Given the description of an element on the screen output the (x, y) to click on. 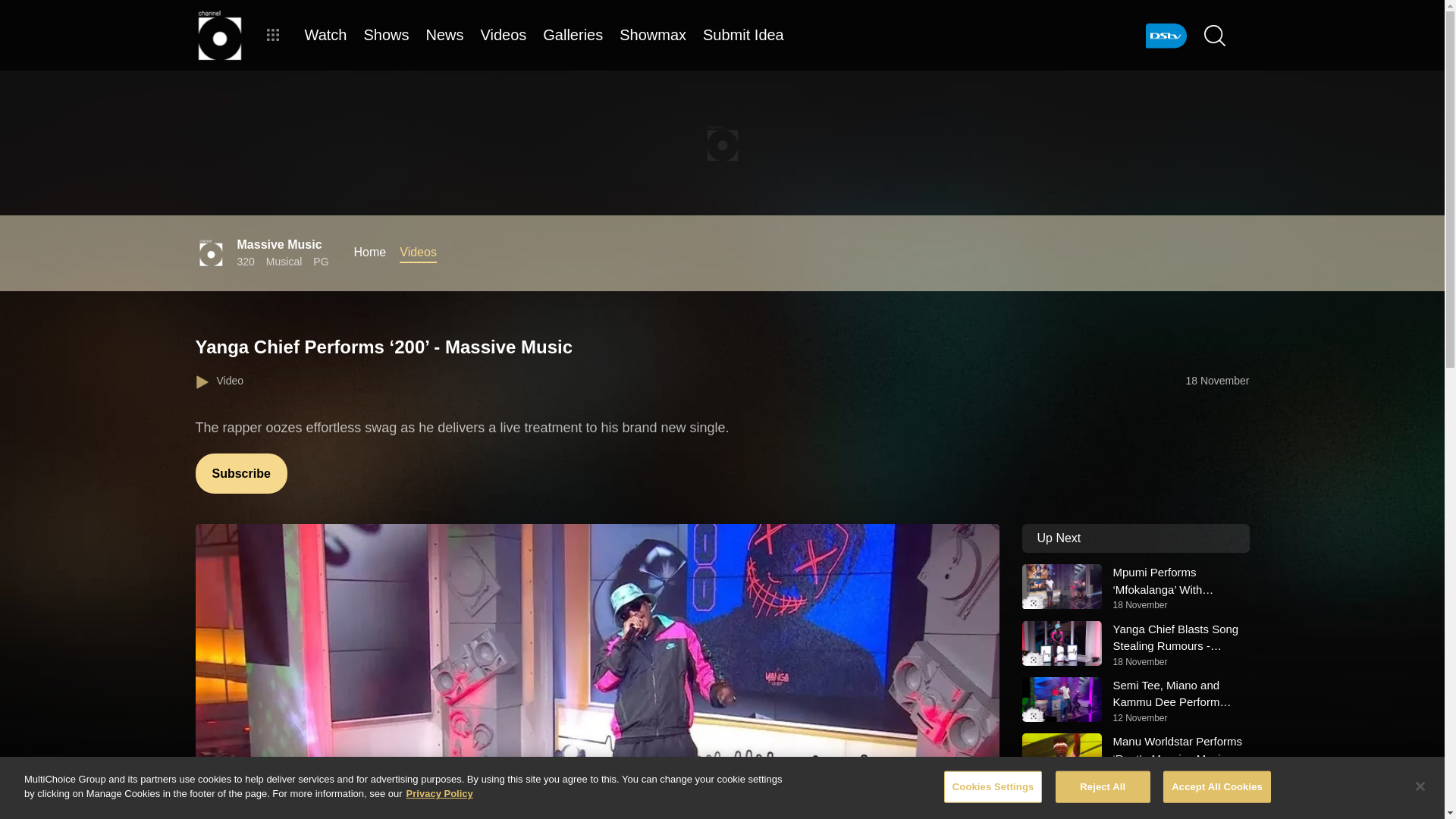
Videos (417, 252)
Subscribe (240, 473)
Home (370, 252)
